Given the description of an element on the screen output the (x, y) to click on. 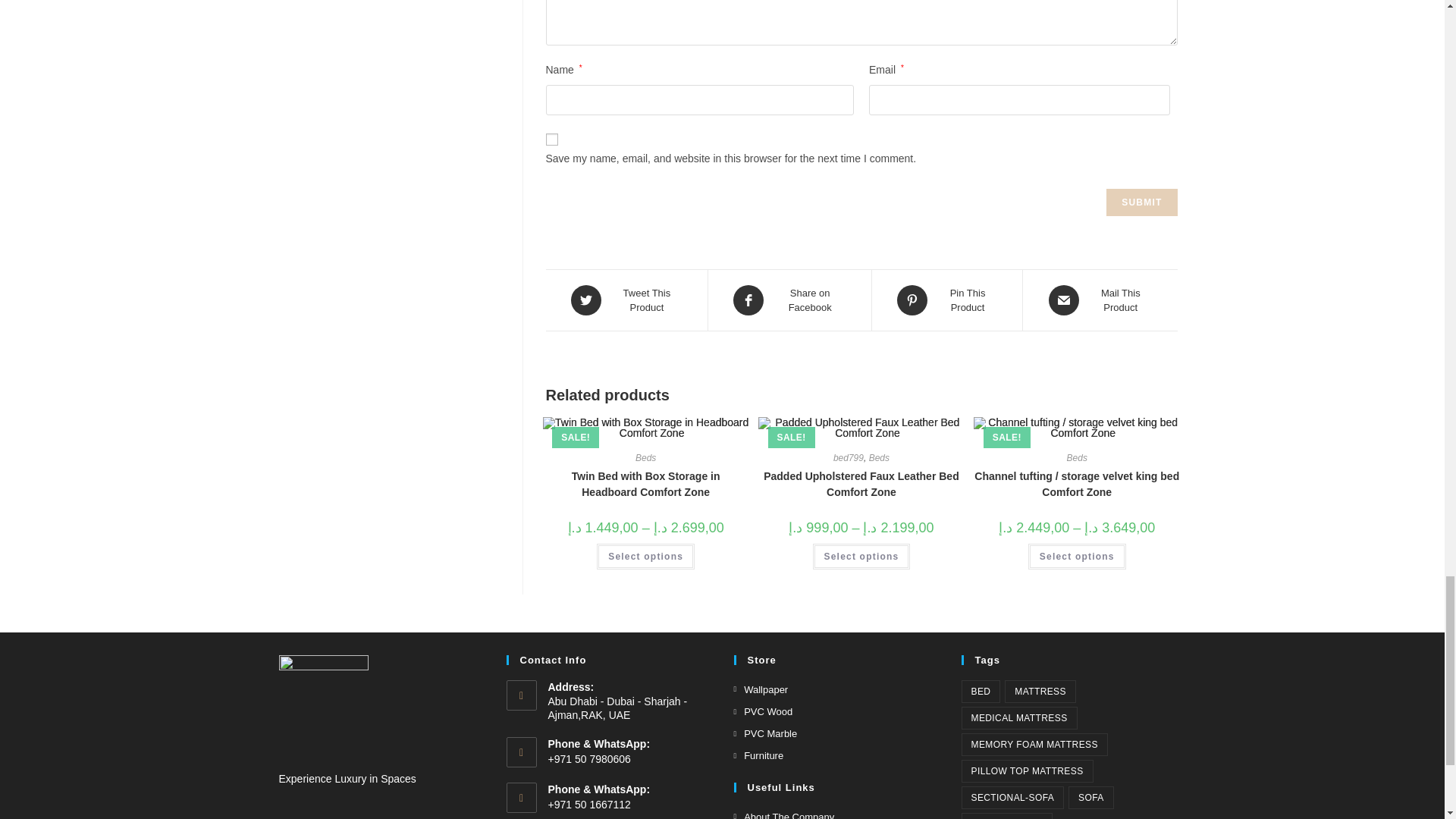
yes (551, 139)
Submit (1141, 202)
